Given the description of an element on the screen output the (x, y) to click on. 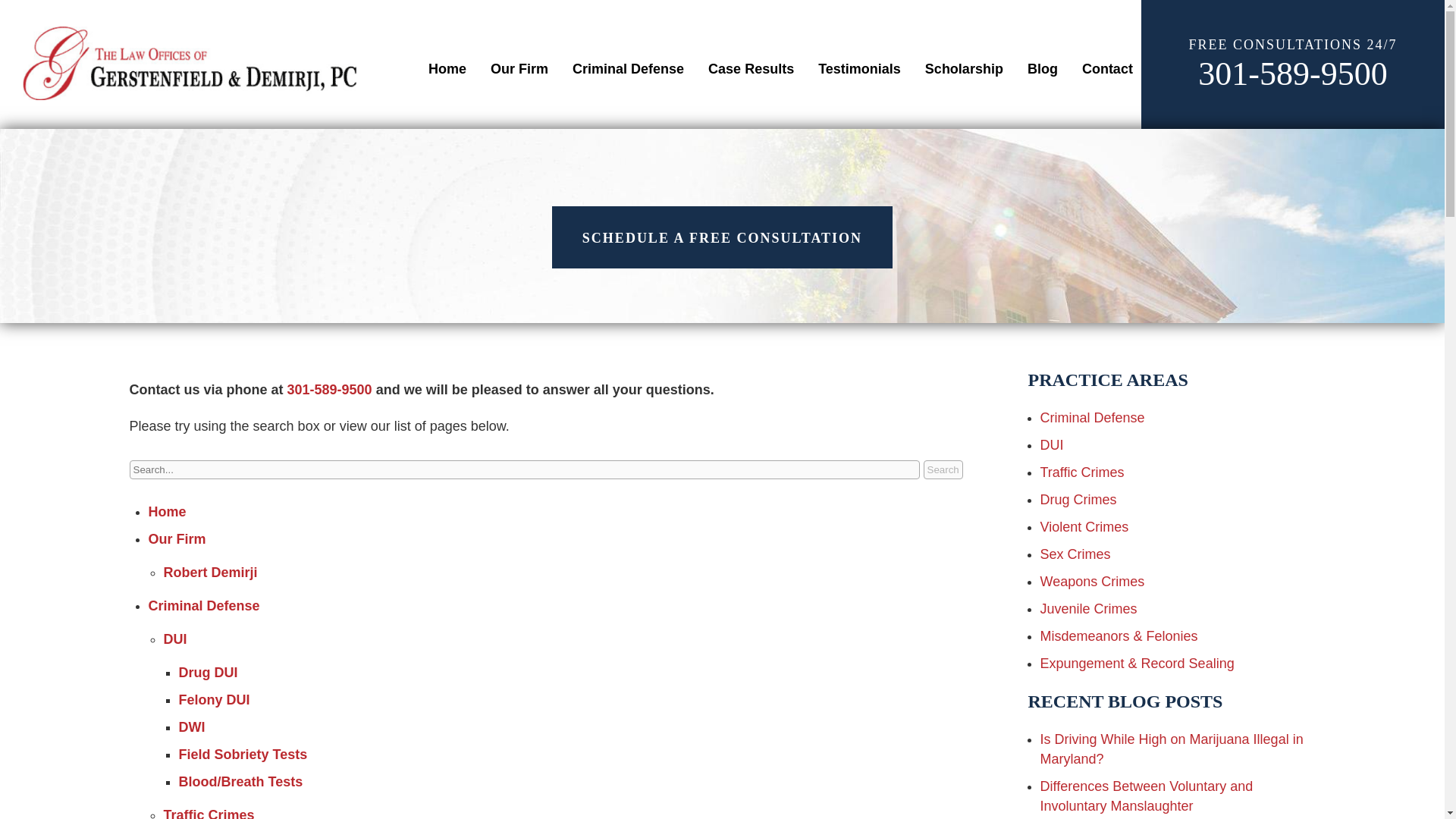
Home (446, 68)
Search (942, 469)
Criminal Defense (628, 68)
Our Firm (519, 68)
